Given the description of an element on the screen output the (x, y) to click on. 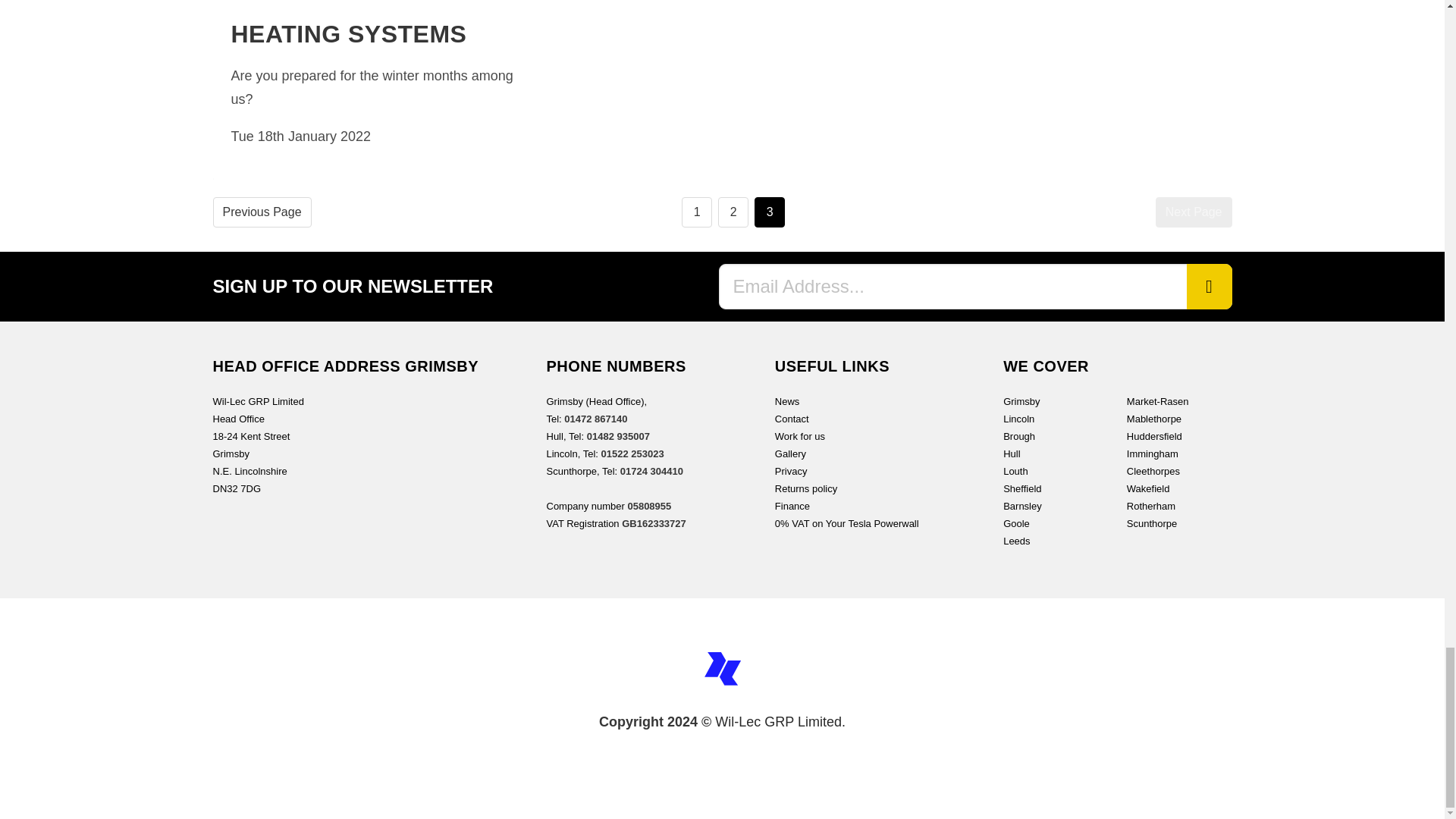
2 (732, 212)
Previous Page (261, 212)
News (786, 401)
Contact (791, 419)
1 (696, 212)
Next Page (1193, 212)
3 (769, 212)
